Given the description of an element on the screen output the (x, y) to click on. 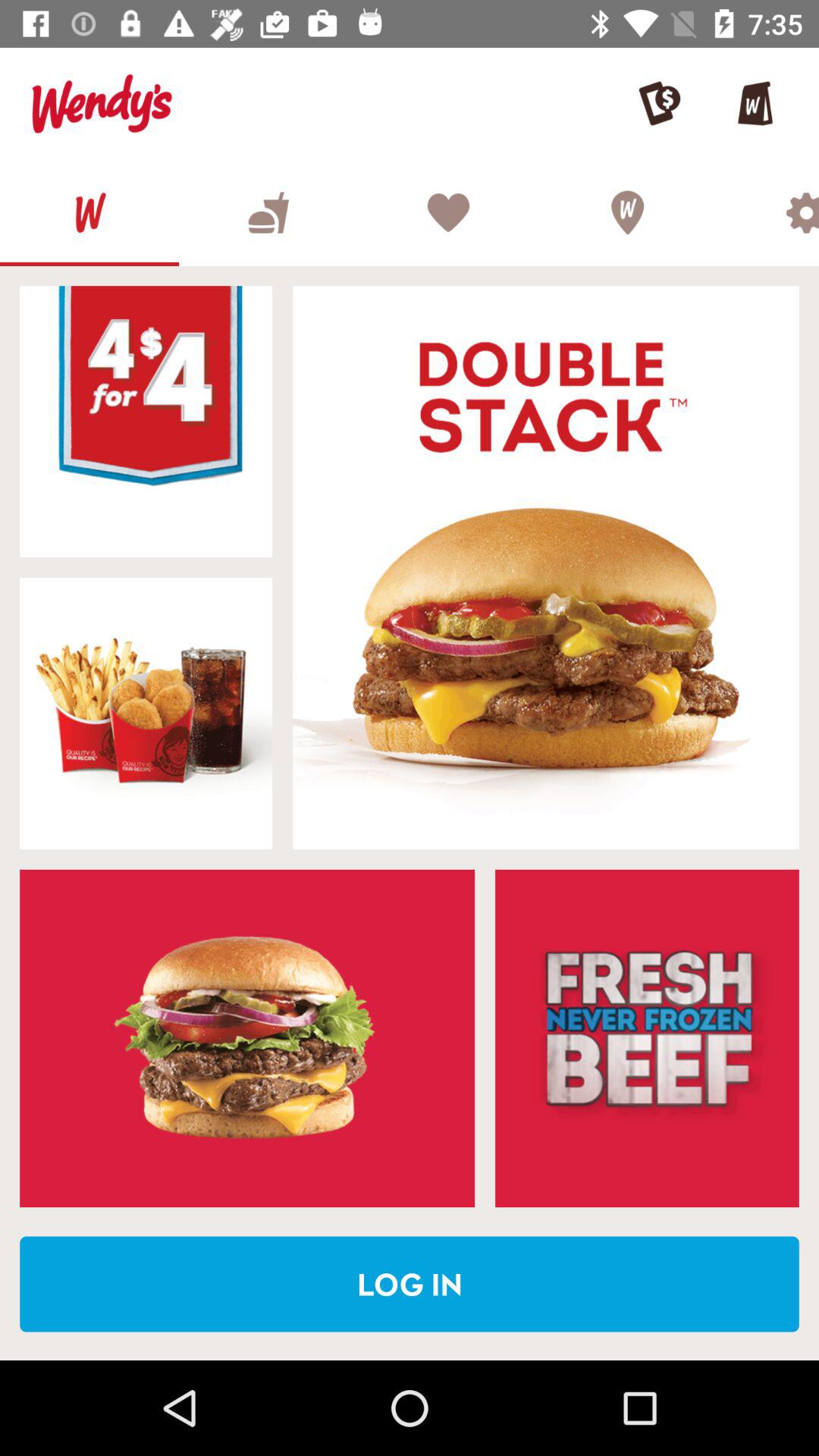
select the icon at the bottom right corner (647, 1038)
